Given the description of an element on the screen output the (x, y) to click on. 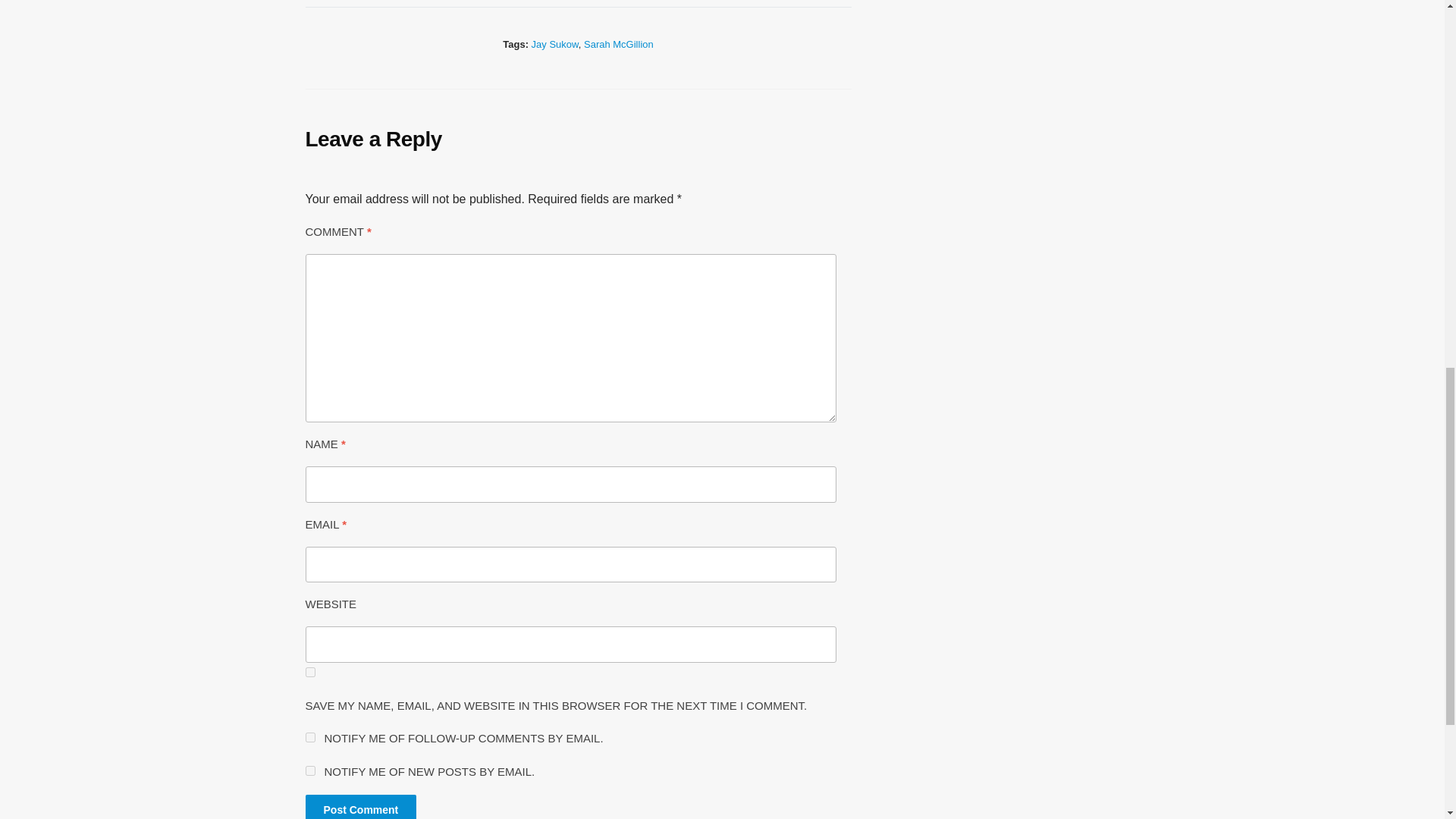
subscribe (309, 737)
yes (309, 672)
subscribe (309, 770)
Post Comment (360, 806)
